Given the description of an element on the screen output the (x, y) to click on. 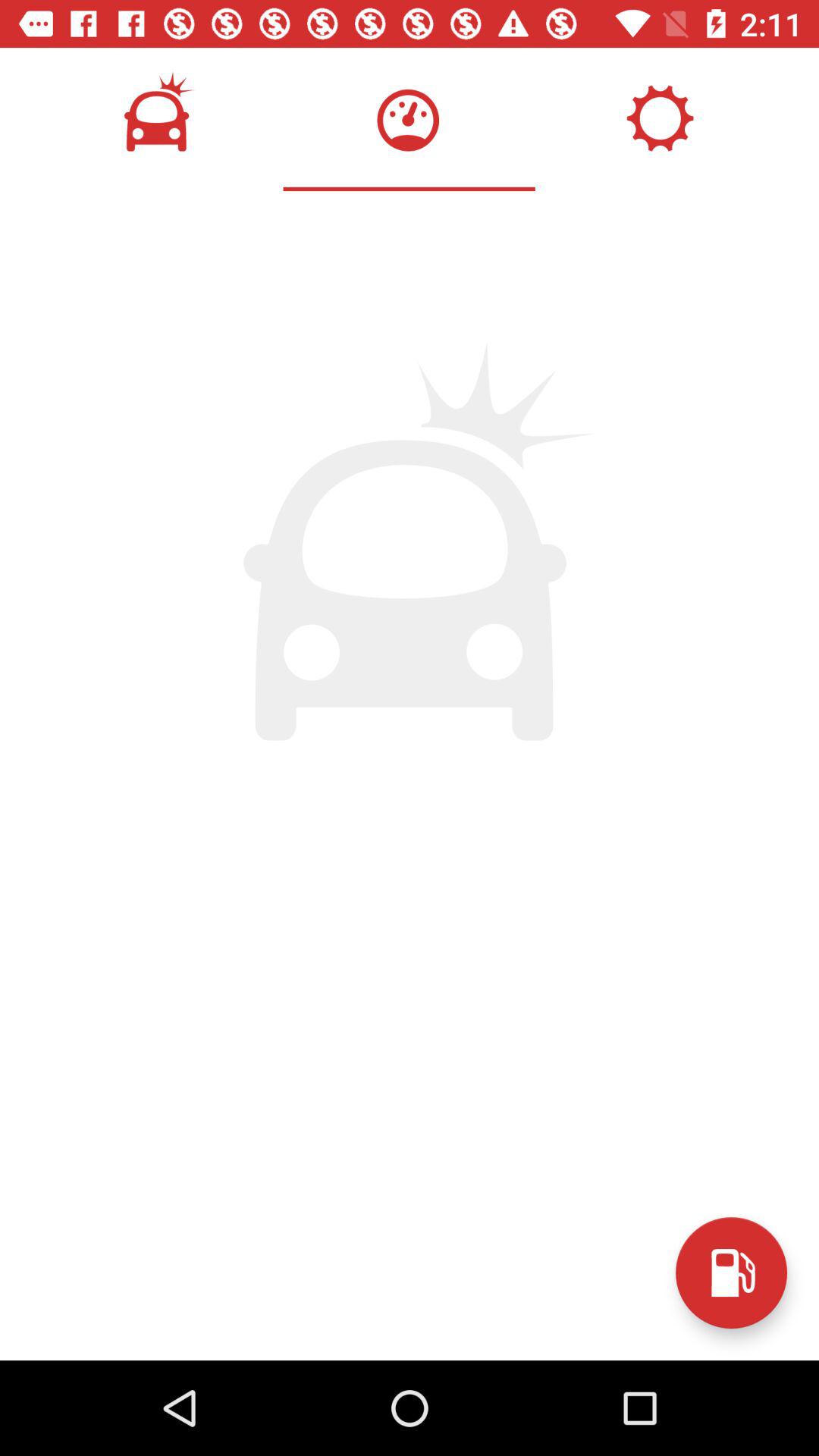
open icon at the bottom right corner (731, 1272)
